Given the description of an element on the screen output the (x, y) to click on. 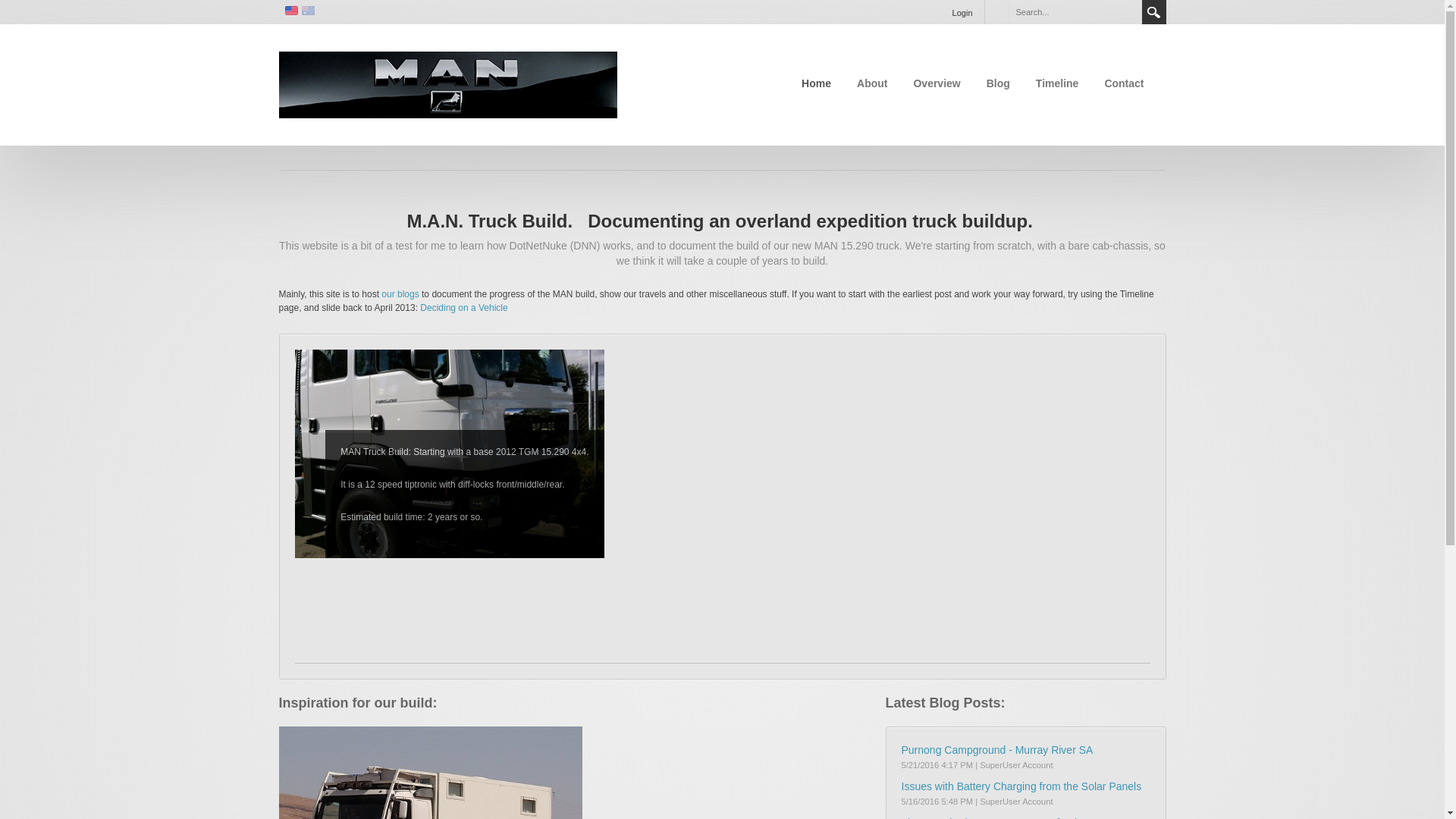
English (Australia) Element type: hover (305, 9)
Login Element type: text (962, 12)
Home Element type: text (816, 83)
About Element type: text (871, 83)
Overview Element type: text (936, 83)
our blogs Element type: text (399, 293)
Timeline Element type: text (1057, 83)
Contact Element type: text (1123, 83)
English (United States) Element type: hover (288, 9)
Deciding on a Vehicle Element type: text (463, 307)
Blog Element type: text (998, 83)
Purnong Campground - Murray River SA Element type: text (996, 749)
Issues with Battery Charging from the Solar Panels Element type: text (1020, 786)
Search Element type: text (1154, 12)
DavidDeere Element type: hover (448, 83)
Clear search text Element type: hover (1126, 11)
